Given the description of an element on the screen output the (x, y) to click on. 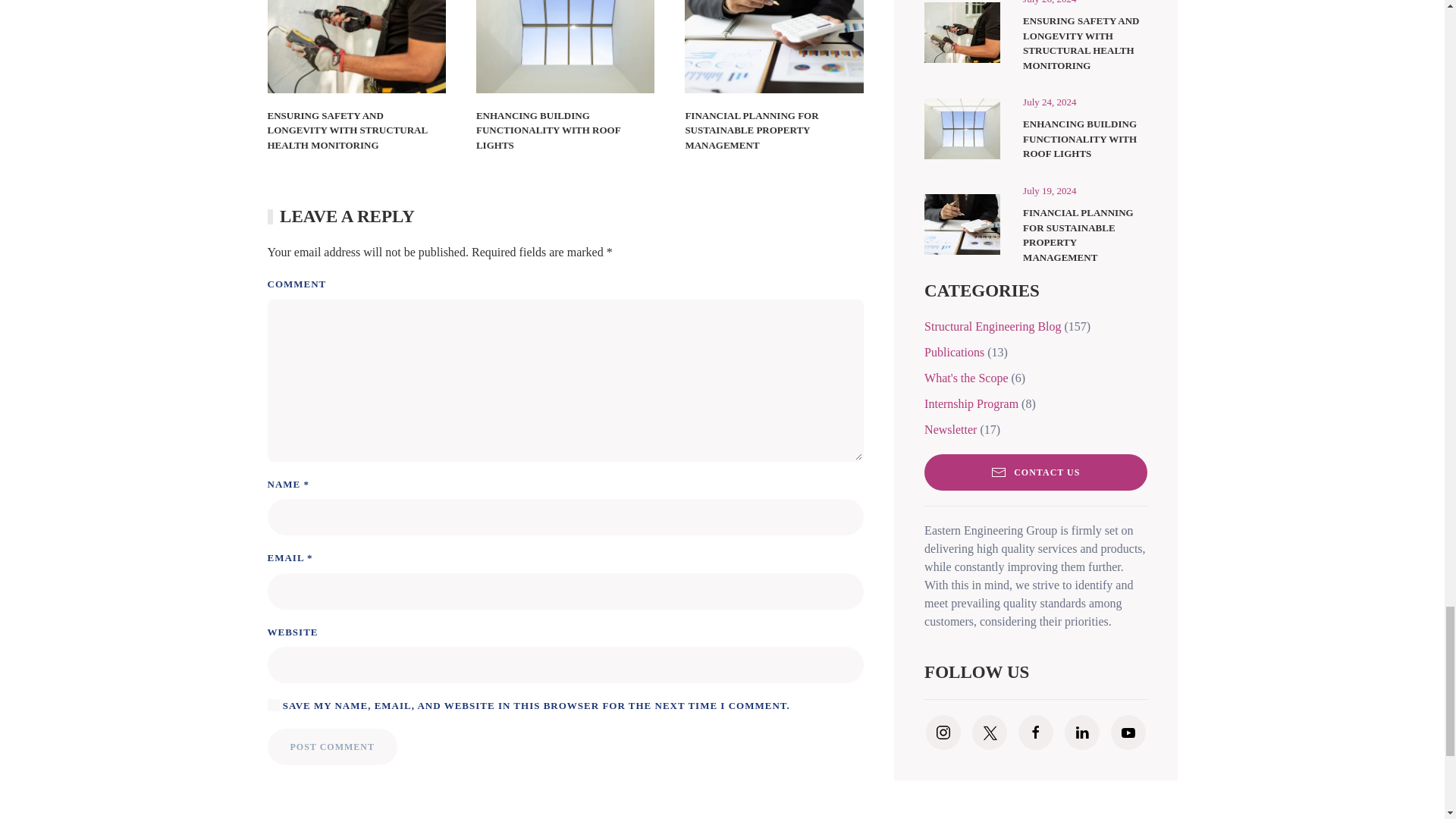
yes (272, 705)
